Given the description of an element on the screen output the (x, y) to click on. 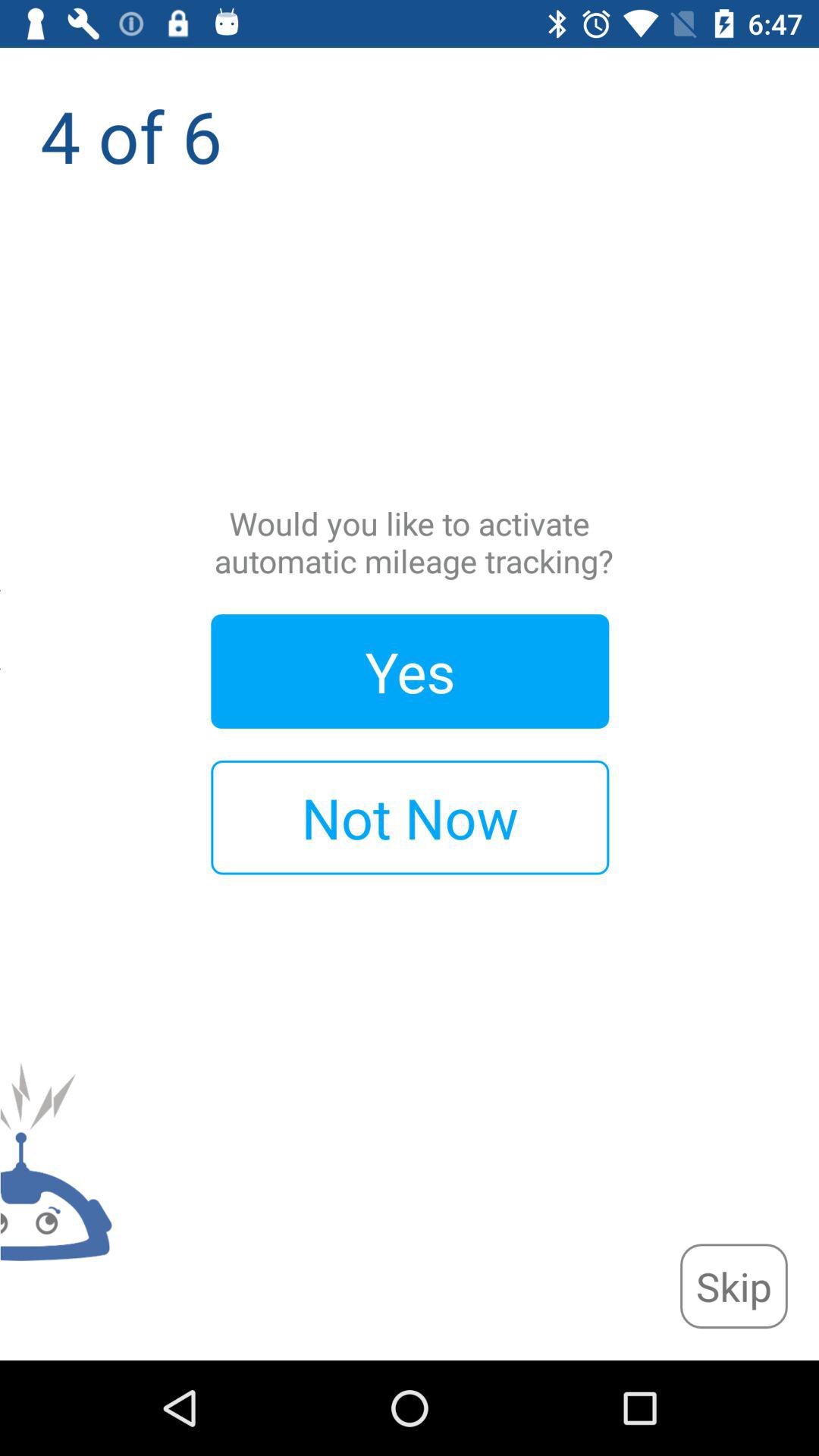
turn off yes icon (409, 671)
